Given the description of an element on the screen output the (x, y) to click on. 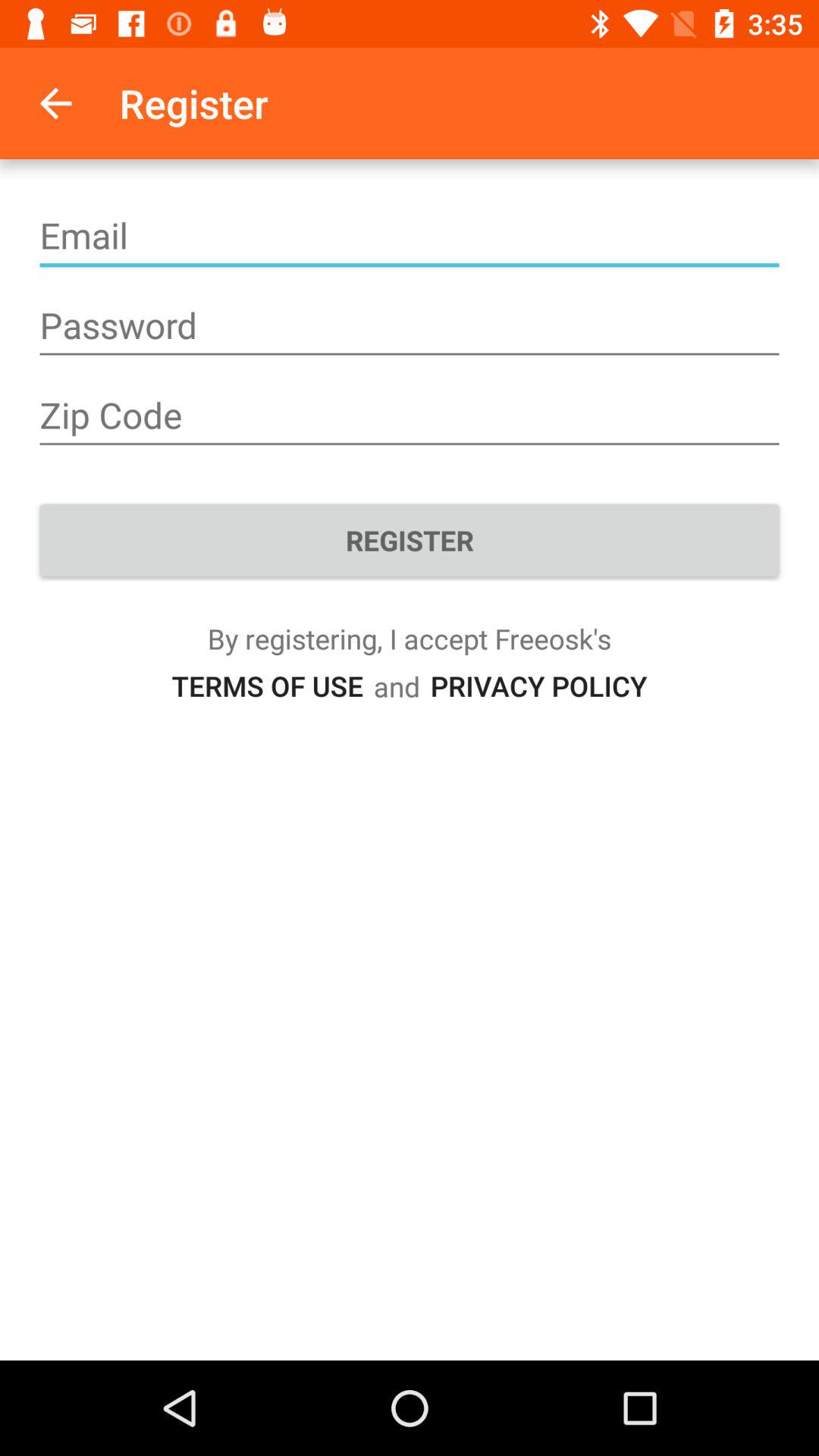
launch terms of use item (267, 685)
